Given the description of an element on the screen output the (x, y) to click on. 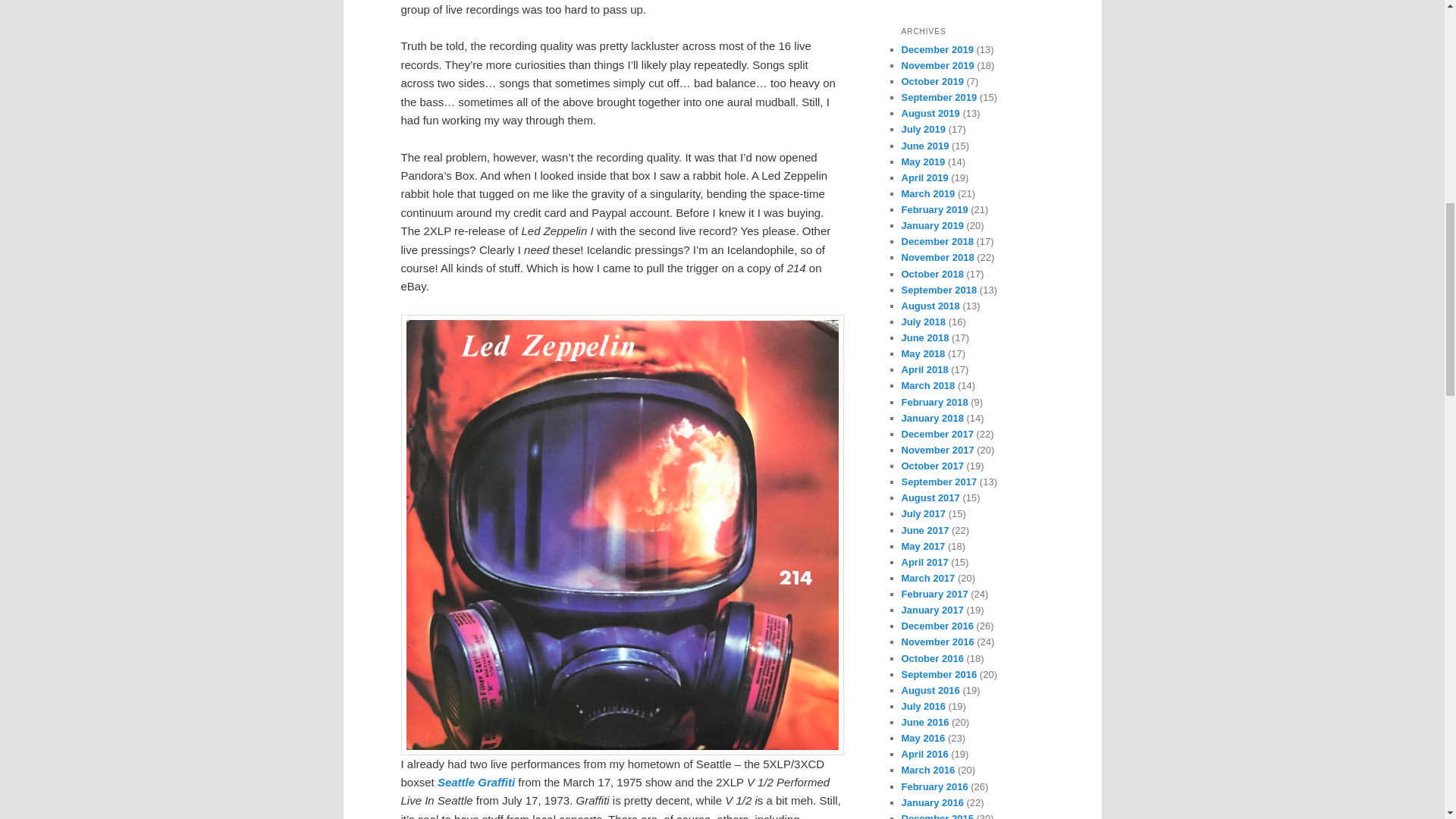
Seattle Graffiti (478, 781)
December 2018 (936, 241)
September 2018 (938, 289)
January 2019 (931, 225)
June 2019 (925, 145)
November 2019 (937, 65)
August 2018 (930, 306)
September 2019 (938, 97)
March 2019 (928, 193)
August 2019 (930, 112)
October 2018 (931, 274)
December 2019 (936, 49)
October 2019 (931, 81)
May 2019 (922, 161)
July 2018 (922, 321)
